Given the description of an element on the screen output the (x, y) to click on. 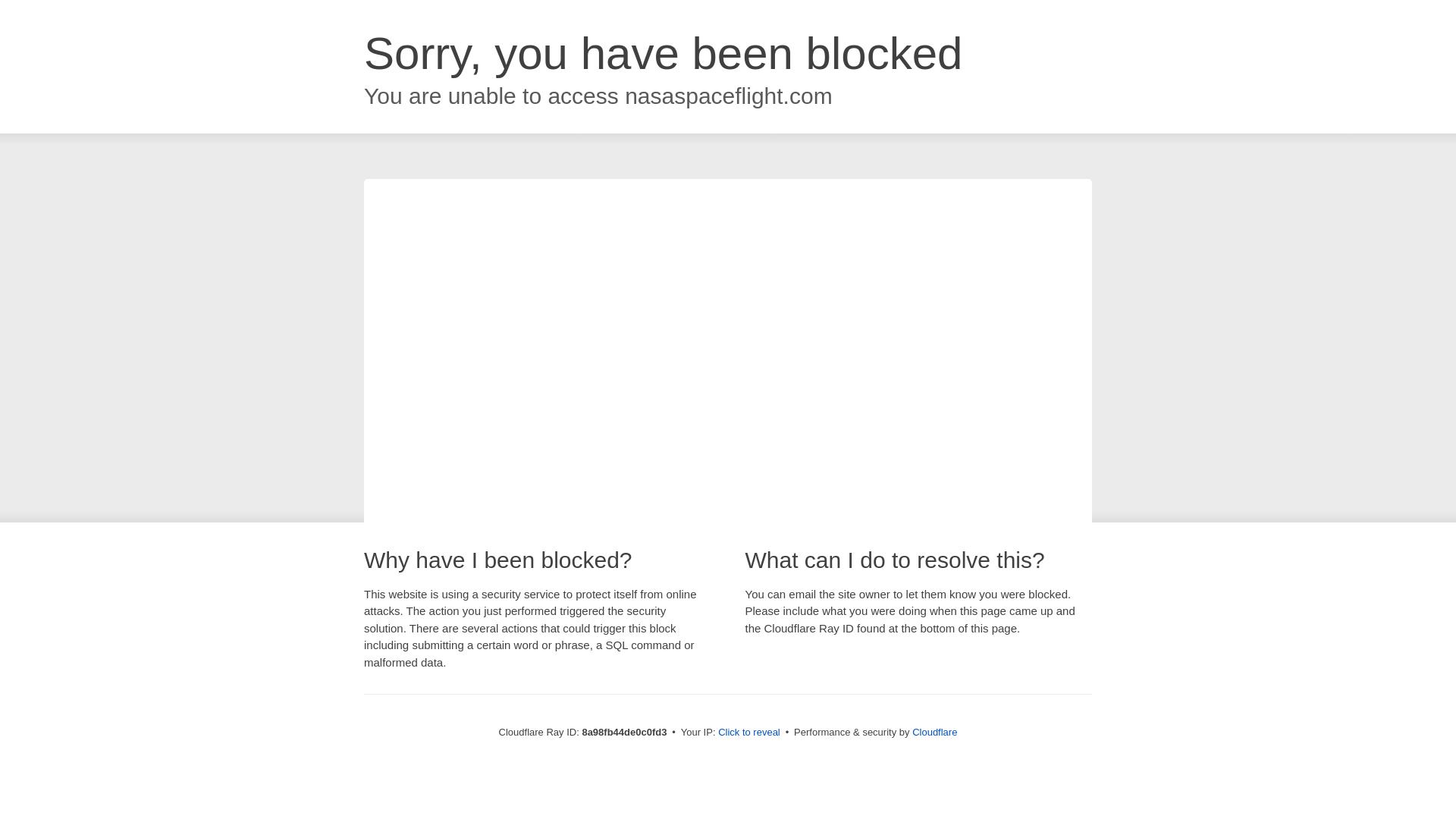
Click to reveal (748, 732)
Cloudflare (934, 731)
